Given the description of an element on the screen output the (x, y) to click on. 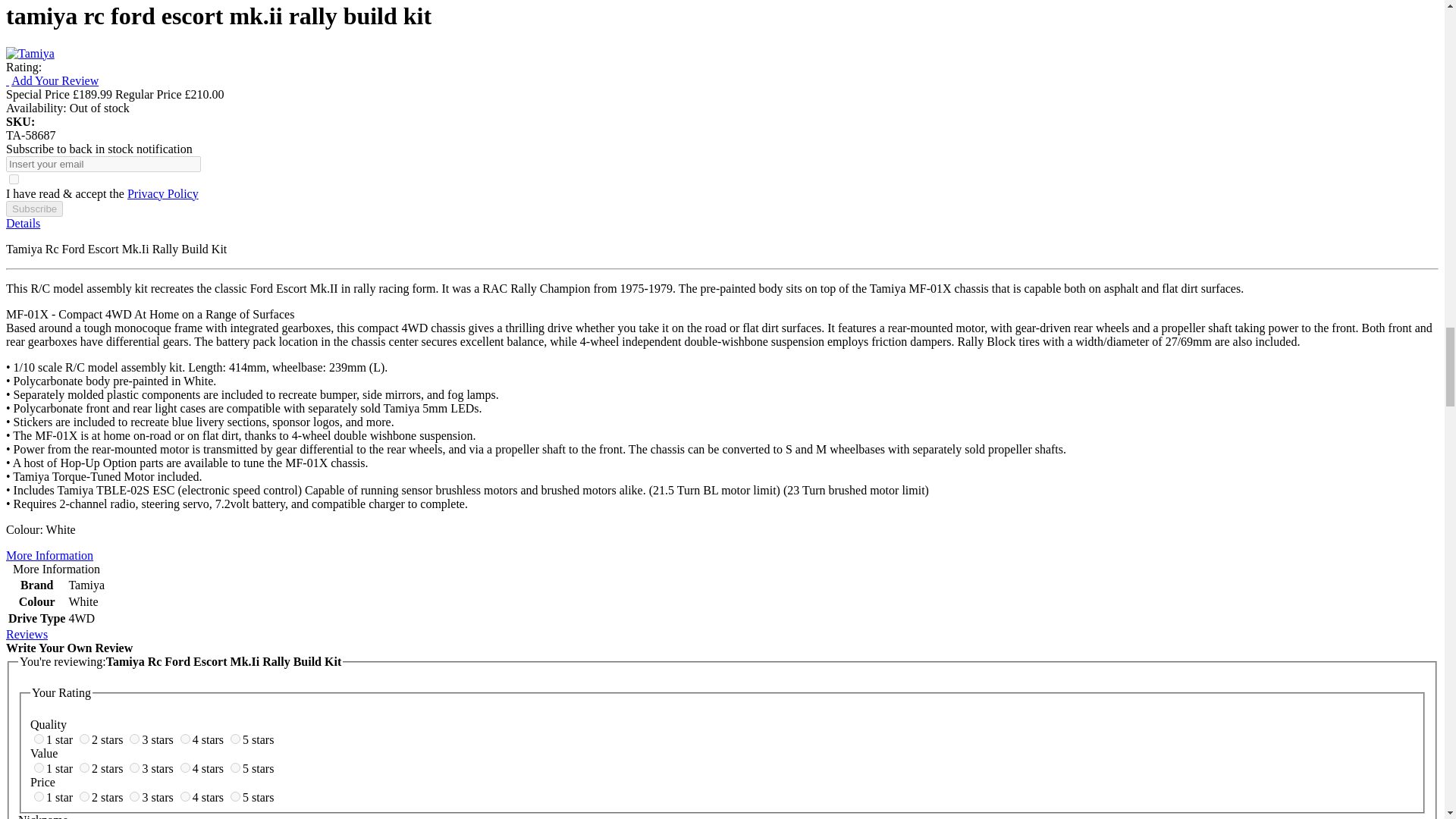
15 (235, 796)
13 (134, 796)
1 star (59, 739)
3 stars (157, 739)
Tamiya (30, 52)
9 (185, 767)
11 (38, 796)
8 (134, 767)
7 (84, 767)
1 (38, 738)
2 stars (106, 739)
6 (38, 767)
3 (134, 738)
14 (185, 796)
1 (13, 179)
